Given the description of an element on the screen output the (x, y) to click on. 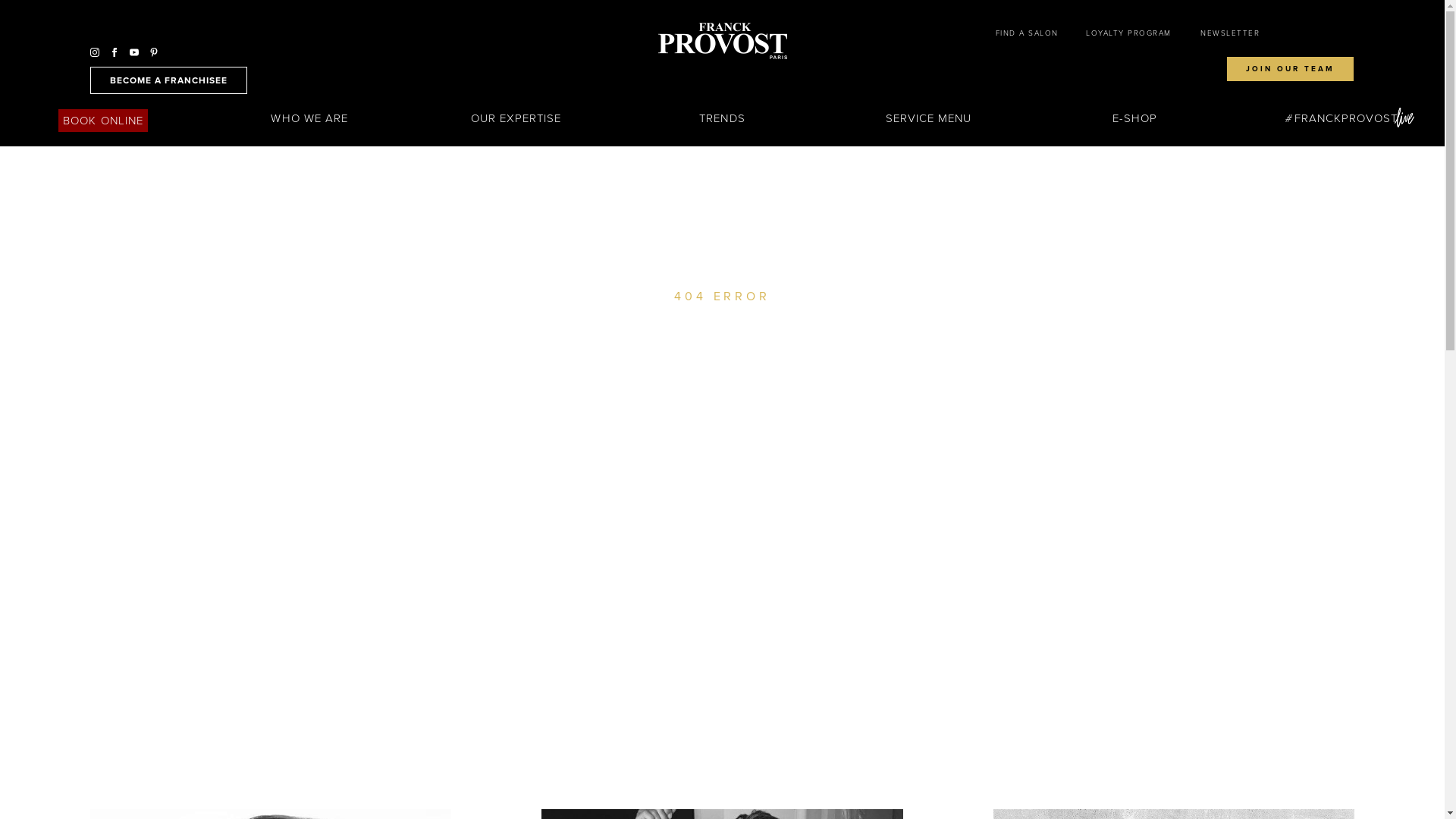
FIND A SALON Element type: text (1026, 32)
JOIN OUR TEAM Element type: text (1290, 68)
HOME PAGE Element type: text (722, 445)
TRENDS Element type: text (721, 128)
FRANCKPROVOST Element type: text (1341, 128)
BOOK ONLINE Element type: text (102, 120)
LOYALTY PROGRAM Element type: text (1128, 32)
BECOME A FRANCHISEE Element type: text (168, 80)
E-SHOP Element type: text (1134, 128)
WHO WE ARE Element type: text (309, 128)
SERVICE MENU Element type: text (928, 128)
Franck Provost Hair Salons Element type: text (722, 40)
OUR EXPERTISE Element type: text (515, 128)
